Given the description of an element on the screen output the (x, y) to click on. 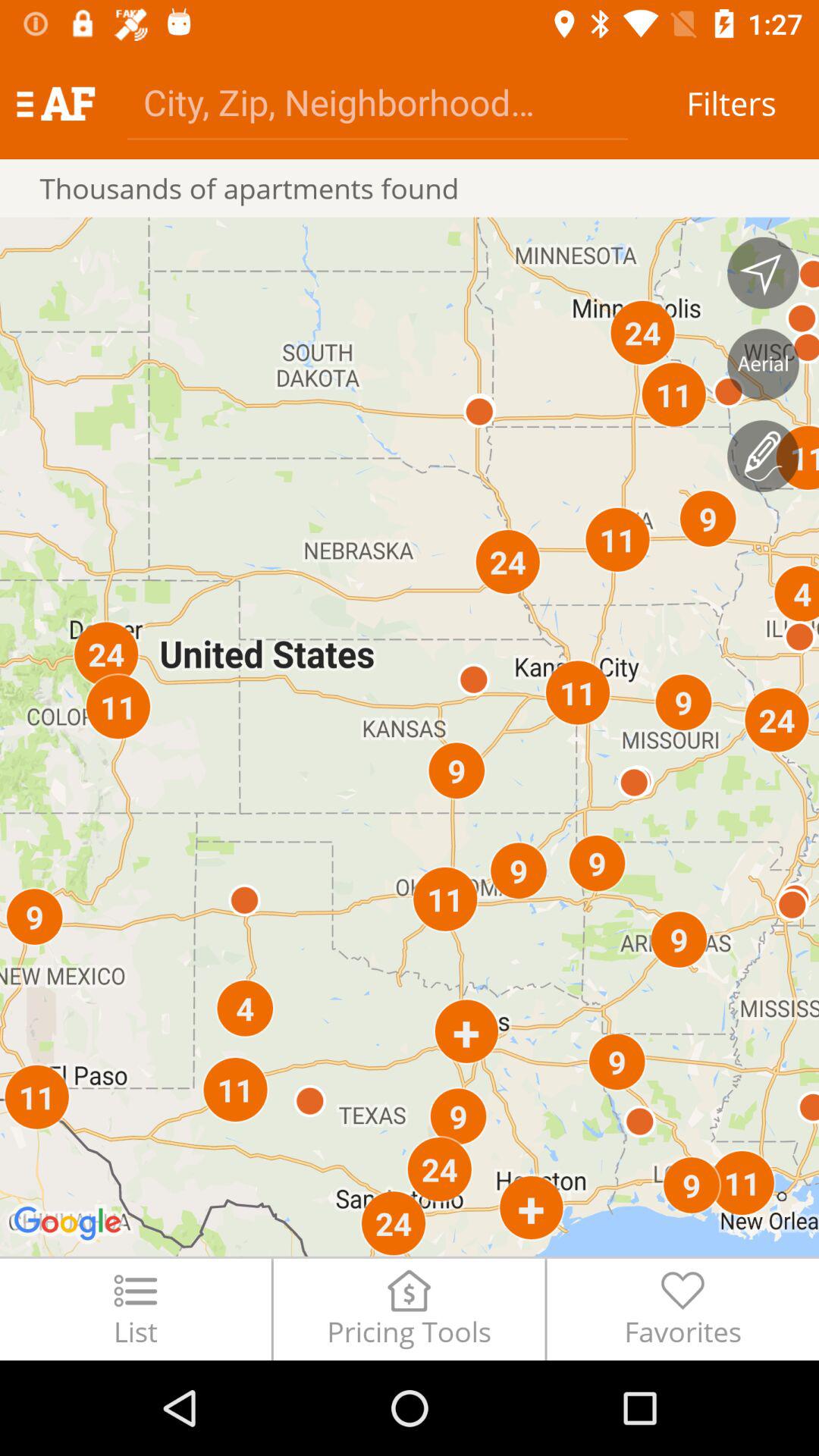
tap icon above favorites (763, 455)
